Given the description of an element on the screen output the (x, y) to click on. 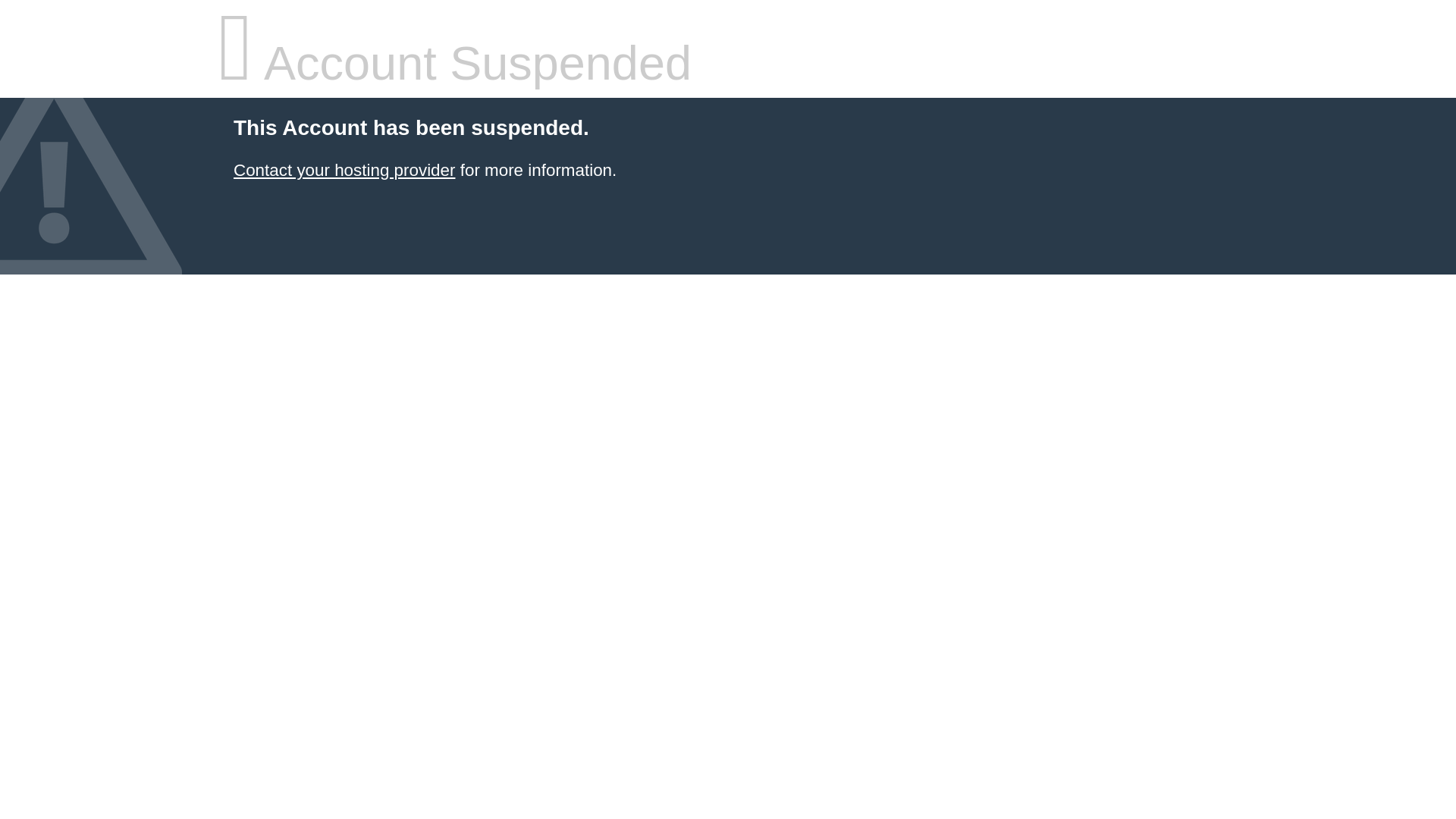
Contact your hosting provider (343, 169)
